Given the description of an element on the screen output the (x, y) to click on. 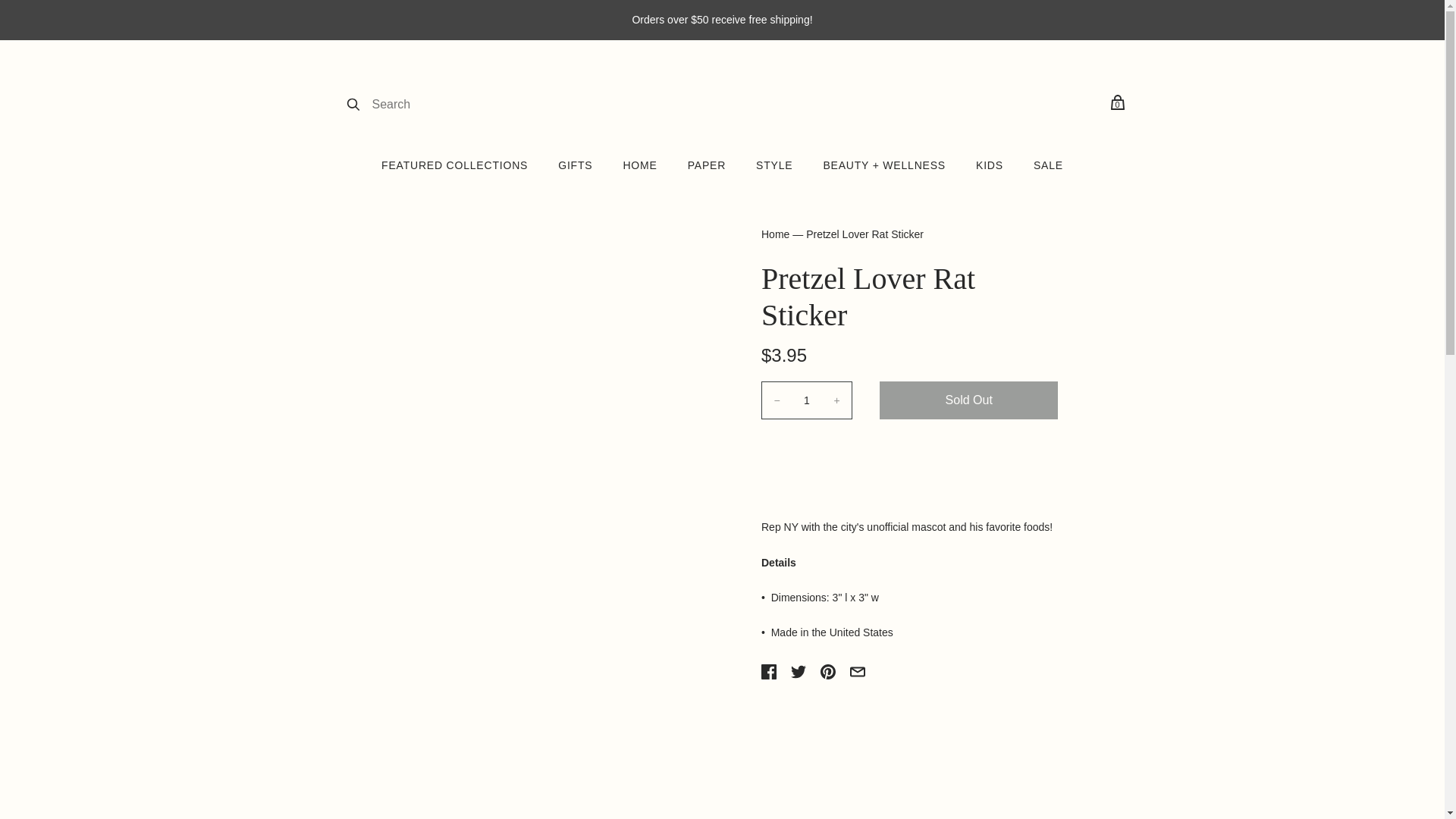
GIFTS (575, 165)
FEATURED COLLECTIONS (453, 165)
Home (775, 234)
0 (1116, 105)
Lockwood Shop (720, 103)
ACCOUNT LOGIN (1072, 103)
